Given the description of an element on the screen output the (x, y) to click on. 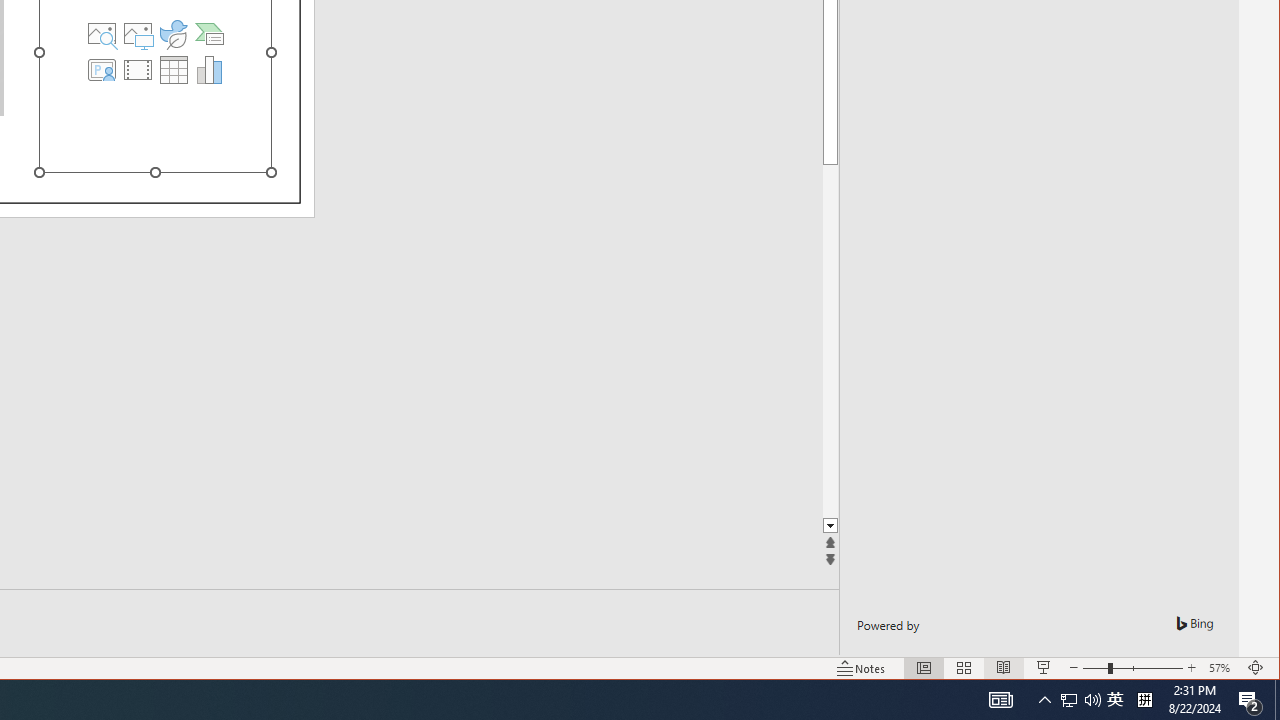
Insert Chart (210, 69)
Insert Cameo (101, 69)
Pictures (1115, 699)
Insert a SmartArt Graphic (137, 33)
Q2790: 100% (210, 33)
Zoom 57% (1092, 699)
User Promoted Notification Area (1222, 668)
Insert an Icon (1080, 699)
Insert Table (173, 33)
